Given the description of an element on the screen output the (x, y) to click on. 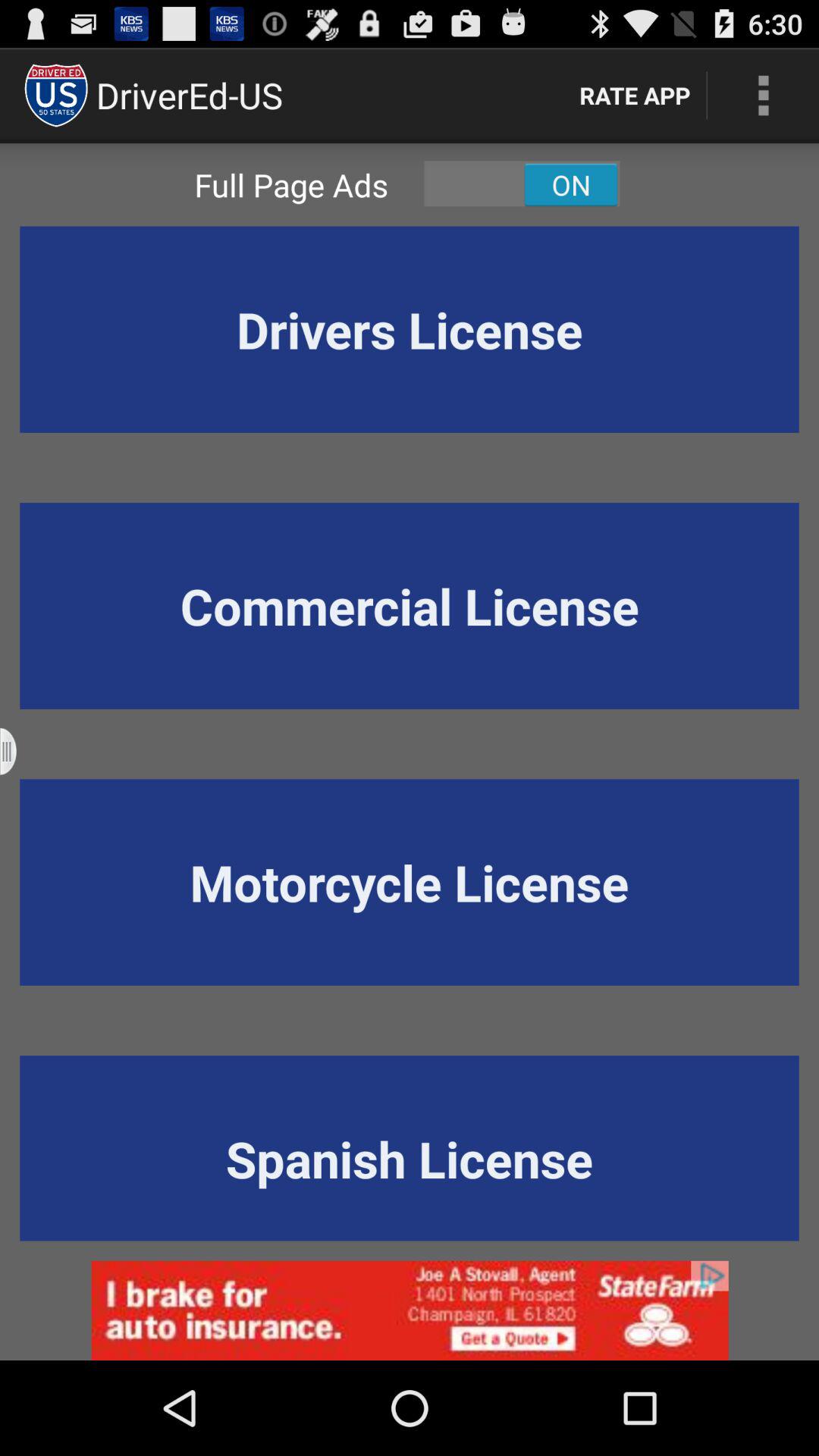
statefarm i brake for auto insurance (409, 1310)
